Given the description of an element on the screen output the (x, y) to click on. 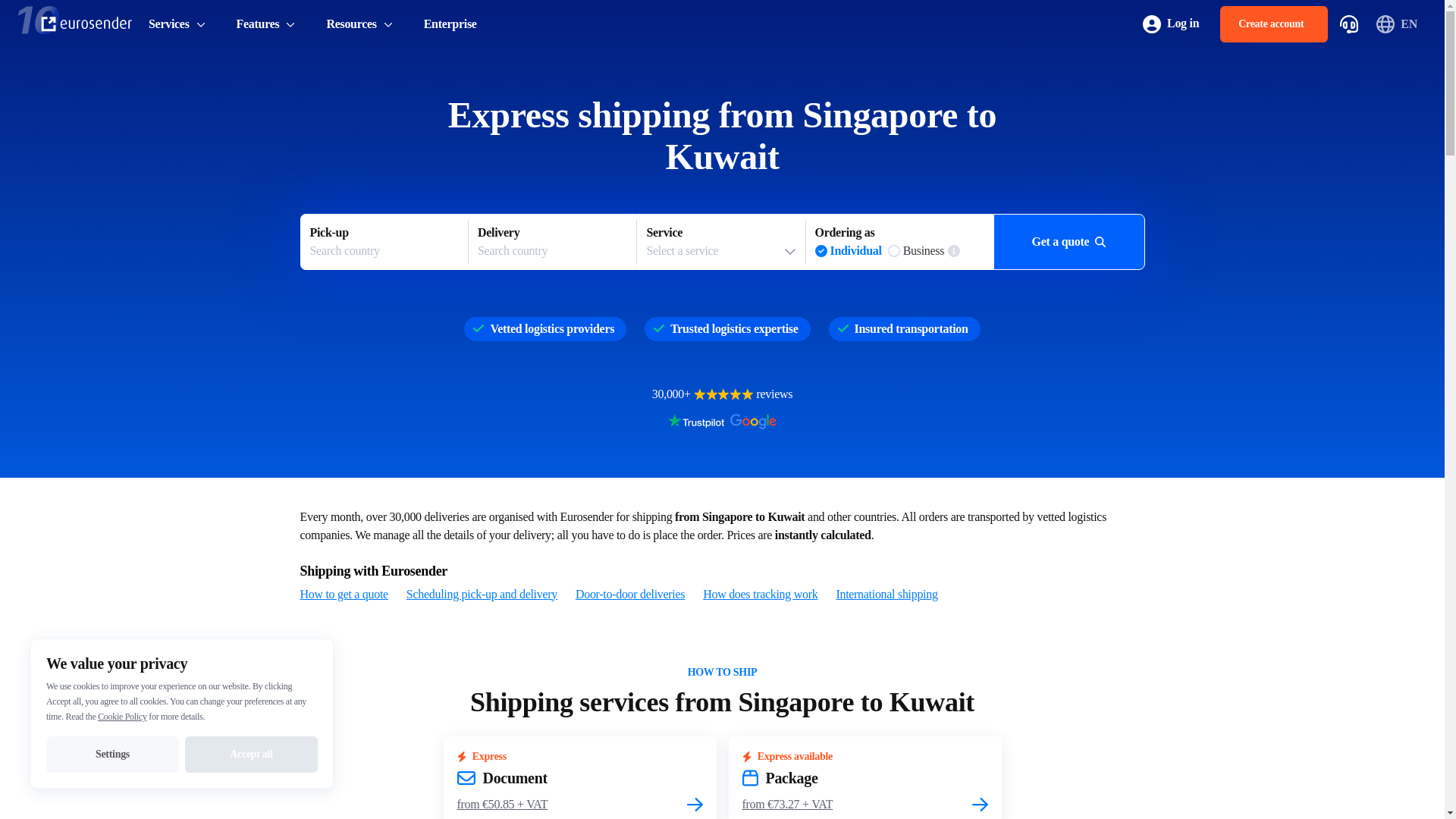
Enterprise (450, 23)
How to get a quote (343, 594)
Get a quote (1068, 241)
How does tracking work (759, 594)
Services (177, 23)
Create account (1273, 23)
International shipping (886, 594)
Door-to-door deliveries (629, 594)
EN (1398, 23)
Log in (1171, 23)
Scheduling pick-up and delivery (481, 594)
Features (721, 241)
